Given the description of an element on the screen output the (x, y) to click on. 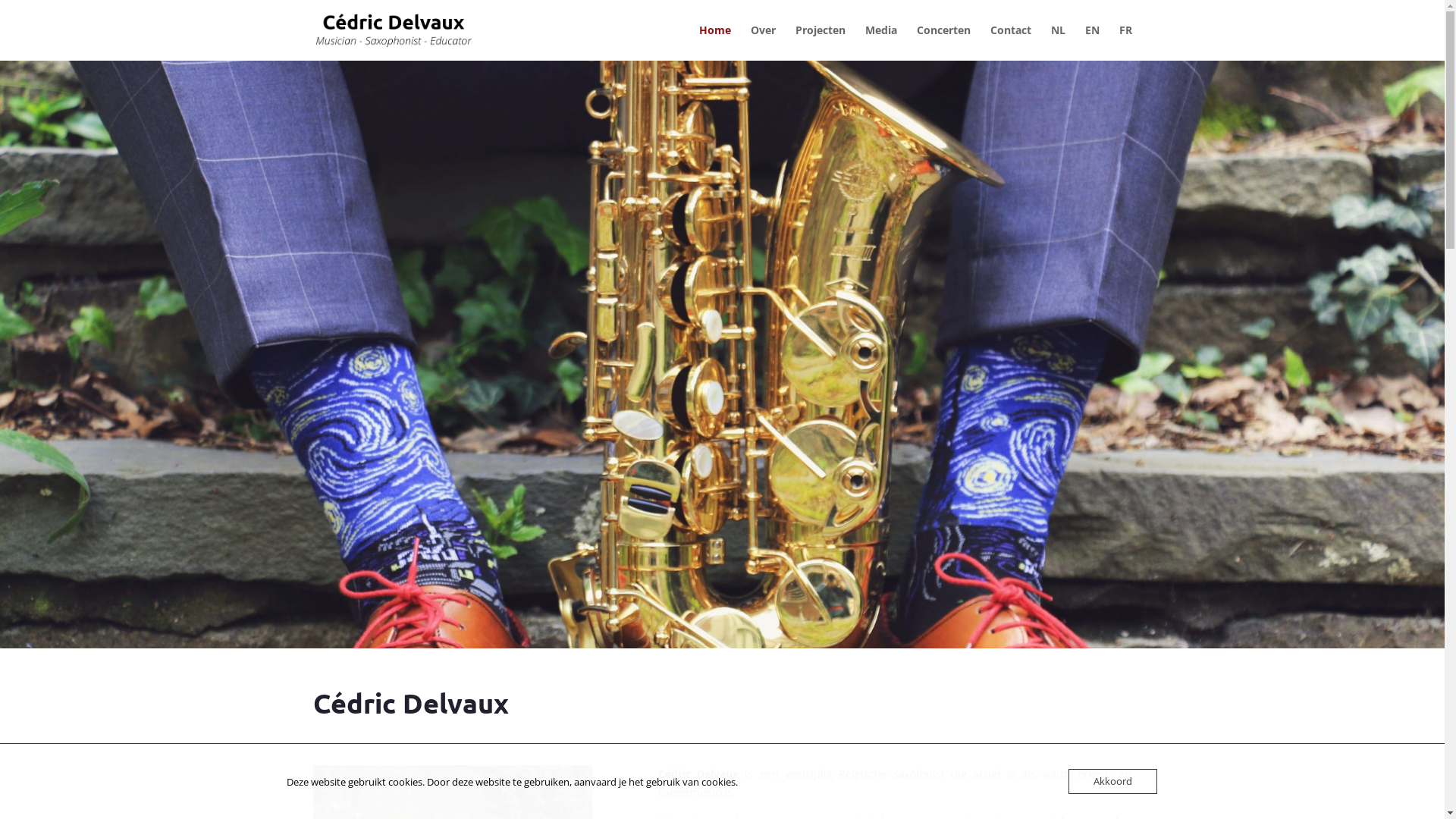
Over Element type: text (762, 42)
EN Element type: text (1091, 42)
FR Element type: text (1125, 42)
Projecten Element type: text (819, 42)
Akkoord Element type: text (1111, 780)
Home Element type: text (715, 42)
Contact Element type: text (1010, 42)
NL Element type: text (1058, 42)
Media Element type: text (880, 42)
Concerten Element type: text (942, 42)
